Given the description of an element on the screen output the (x, y) to click on. 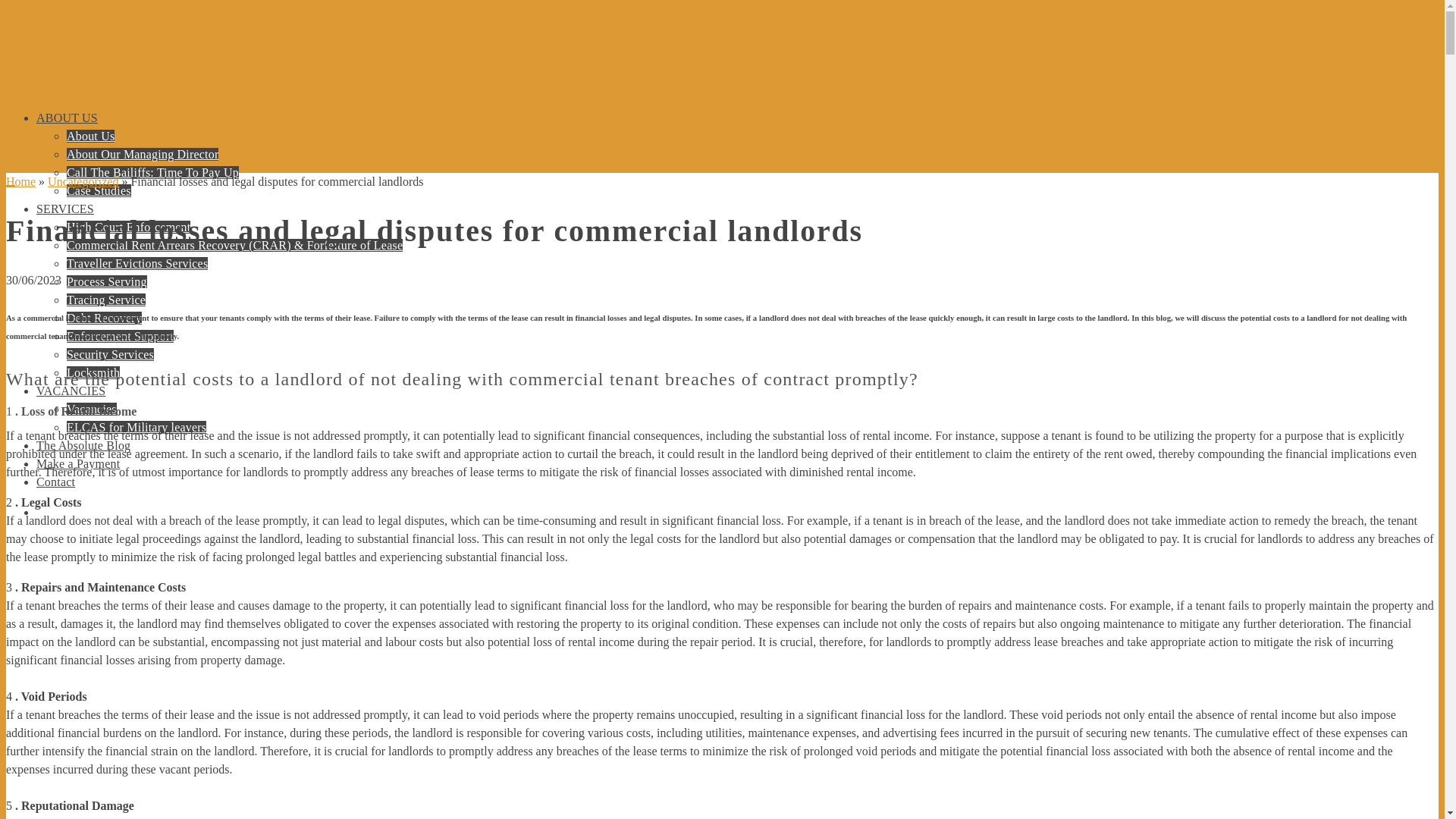
ELCAS for Military leavers (136, 427)
Vacancies (91, 408)
Process Serving (106, 281)
ABOUT US (66, 117)
Home (19, 181)
Call The Bailiffs: Time To Pay Up (152, 172)
Enforcement Support (119, 336)
Case Studies (98, 190)
Make a Payment (77, 463)
VACANCIES (70, 390)
High Court Enforcement (128, 226)
SERVICES (65, 208)
Security Services (110, 354)
About Our Managing Director (142, 154)
Tracing Service (105, 299)
